Given the description of an element on the screen output the (x, y) to click on. 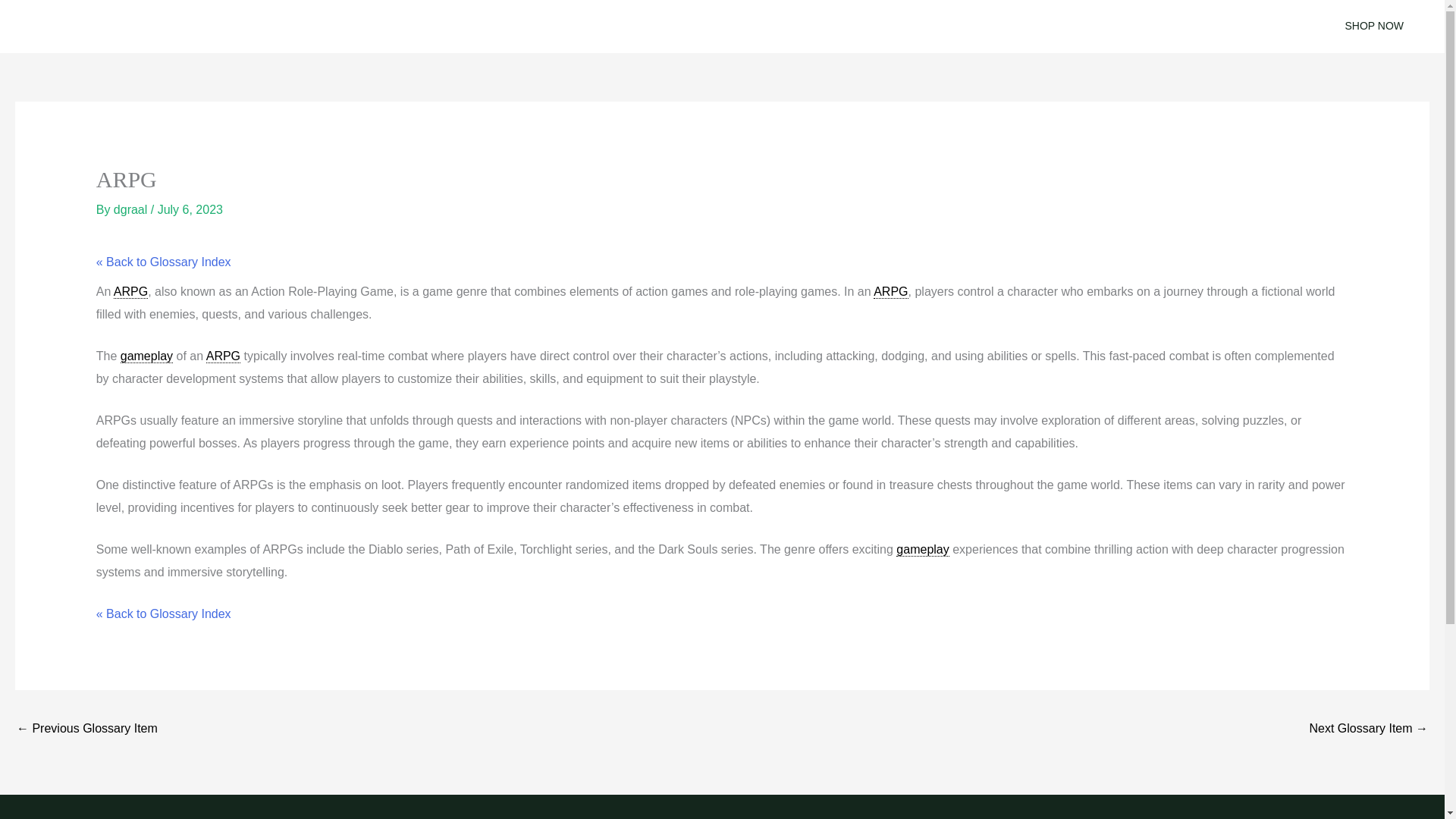
BLOG (593, 26)
Alpha (86, 729)
STORE (750, 26)
dgraal (132, 209)
GAMEDEV (670, 26)
SHOP NOW (1374, 26)
ARPG (130, 291)
ABOUT US (831, 26)
ARPG (890, 291)
View all posts by dgraal (132, 209)
